Given the description of an element on the screen output the (x, y) to click on. 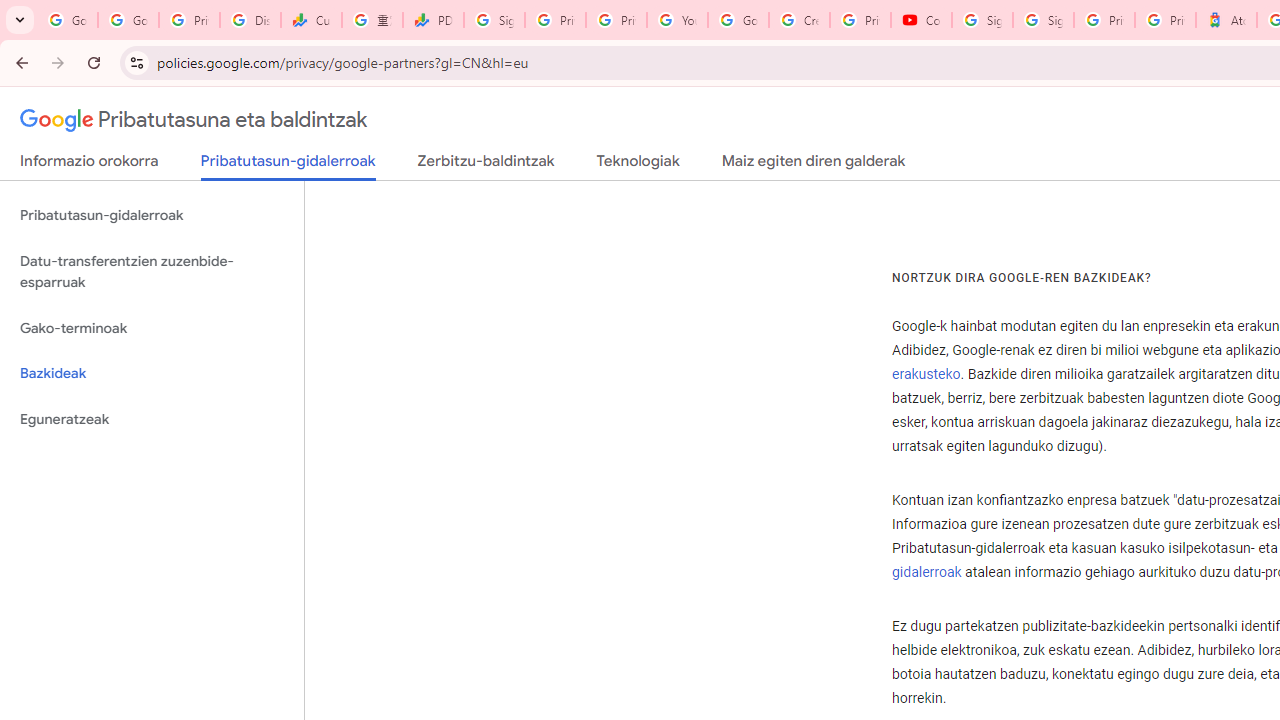
Maiz egiten diren galderak (813, 165)
Datu-transferentzien zuzenbide-esparruak (152, 272)
PDD Holdings Inc - ADR (PDD) Price & News - Google Finance (433, 20)
Pribatutasun-gidalerroak (152, 215)
Google Workspace Admin Community (67, 20)
Currencies - Google Finance (310, 20)
